Given the description of an element on the screen output the (x, y) to click on. 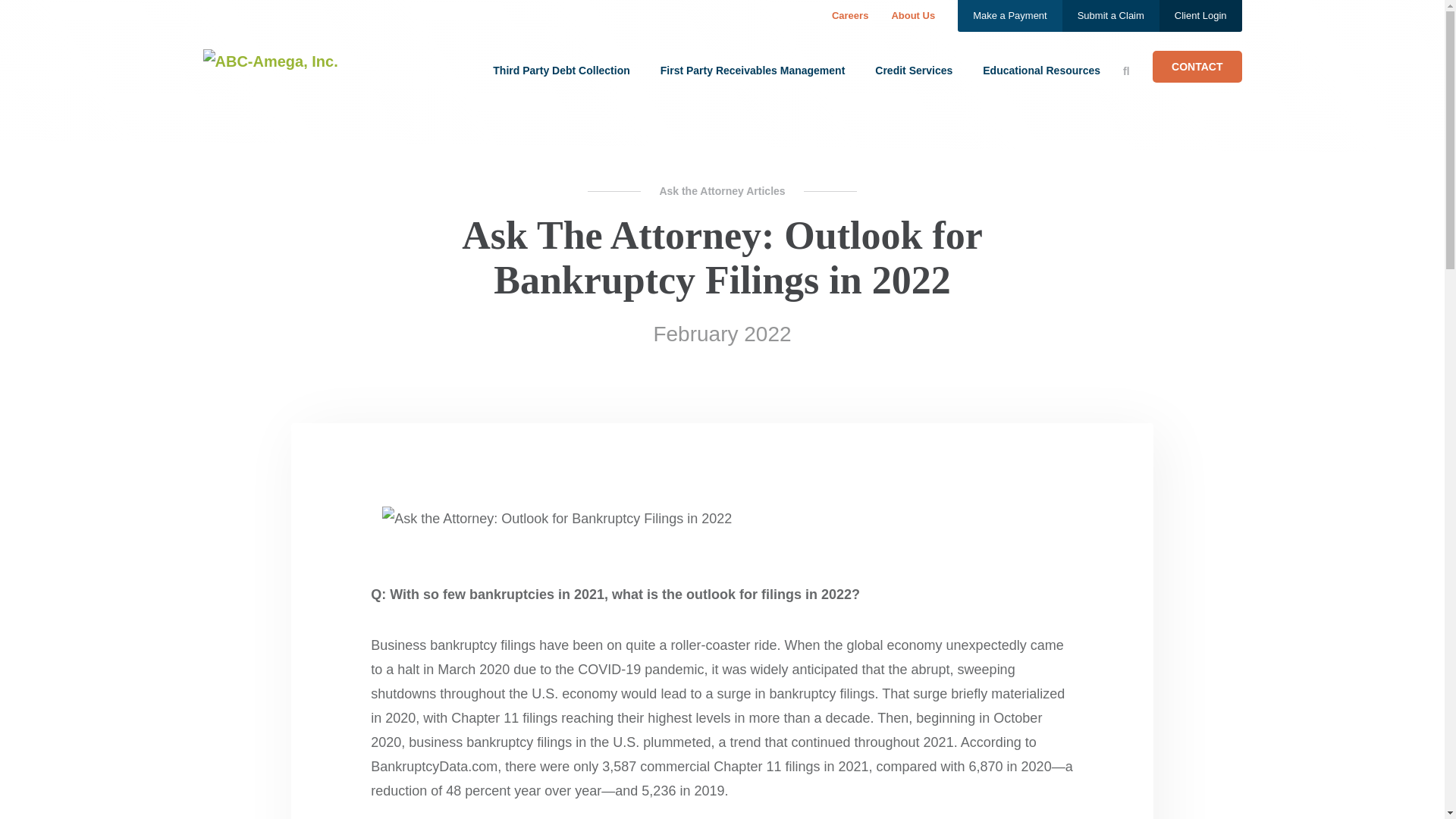
Credit Services (913, 70)
Submit a Claim (1110, 15)
Credit Services (913, 70)
Educational Resources (1041, 70)
Careers (849, 15)
First Party Receivables Management (753, 70)
Make a Payment (1010, 15)
Make a Payment (1010, 15)
About Us (912, 15)
Search (1128, 70)
Submit a Claim (1110, 15)
Third Party Debt Collection (560, 70)
Third Party Debt Collection (560, 70)
Client Login (1199, 15)
First Party Receivables Management (753, 70)
